Given the description of an element on the screen output the (x, y) to click on. 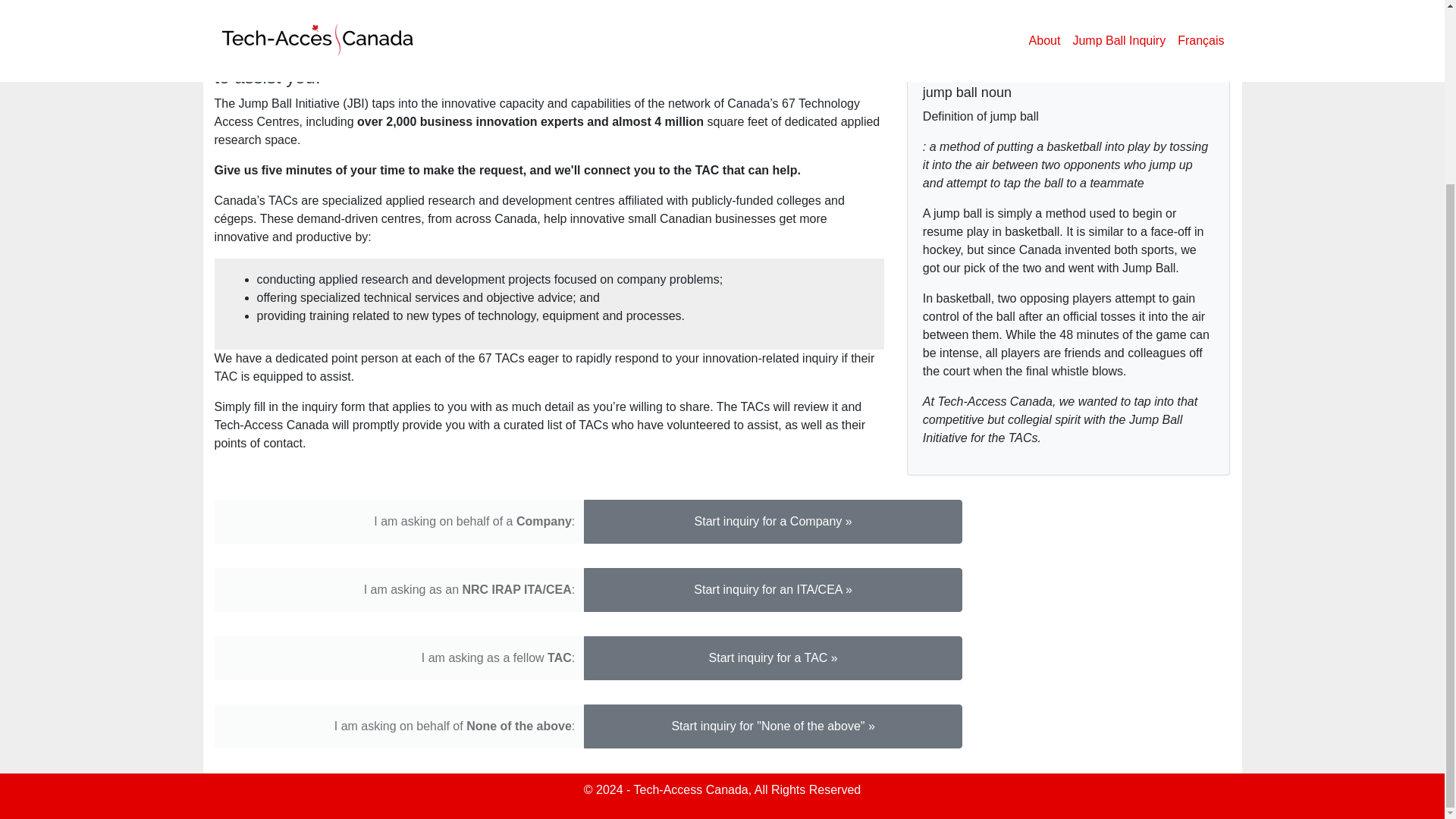
I am asking as a fellow TAC: (399, 658)
Tech-Access Canada (690, 789)
I am asking on behalf of a Company: (399, 521)
I am asking on behalf of None of the above: (399, 726)
